Given the description of an element on the screen output the (x, y) to click on. 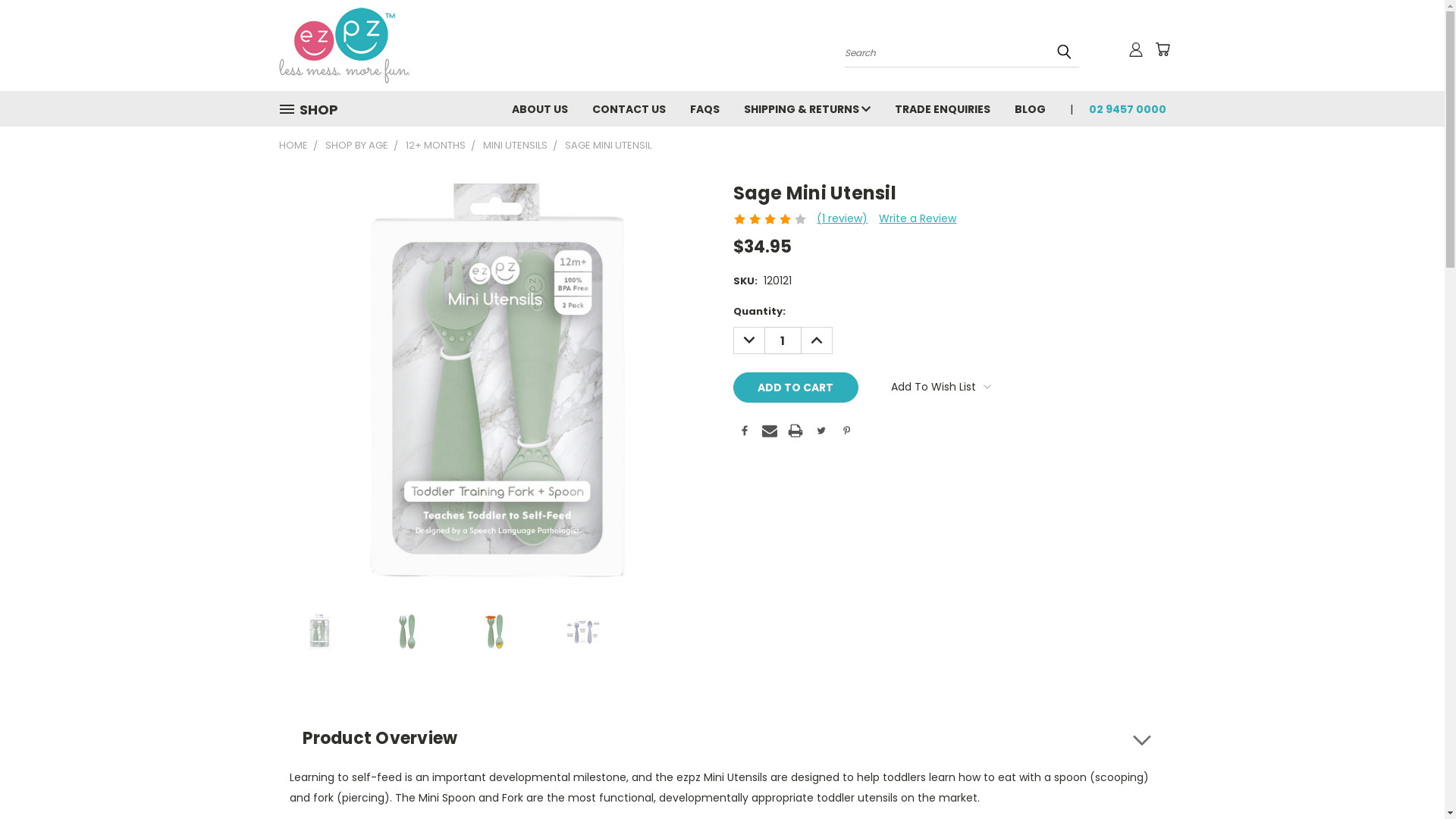
ezpz australia Element type: hover (344, 45)
MINI UTENSILS Element type: text (514, 145)
Add To Wish List Element type: text (940, 386)
DECREASE QUANTITY: Element type: text (747, 340)
INCREASE QUANTITY: Element type: text (815, 340)
HOME Element type: text (293, 145)
Write a Review Element type: text (917, 217)
CONTACT US Element type: text (628, 108)
SHIPPING & RETURNS Element type: text (806, 108)
(1 review) Element type: text (841, 217)
BLOG Element type: text (1029, 108)
02 9457 0000 Element type: text (1121, 108)
SHOP Element type: text (314, 109)
FAQS Element type: text (704, 108)
SHOP BY AGE Element type: text (355, 145)
Sage Mini Utensil Element type: hover (407, 630)
Add to Cart Element type: text (795, 387)
ABOUT US Element type: text (538, 108)
submit Element type: hover (1063, 51)
Sage Mini Utensil Element type: hover (319, 630)
Sage Mini Utensil Element type: hover (495, 630)
Sage Mini Utensil Element type: hover (495, 379)
12+ MONTHS Element type: text (434, 145)
Sage Mini Utensil Element type: hover (583, 630)
TRADE ENQUIRIES Element type: text (942, 108)
